Given the description of an element on the screen output the (x, y) to click on. 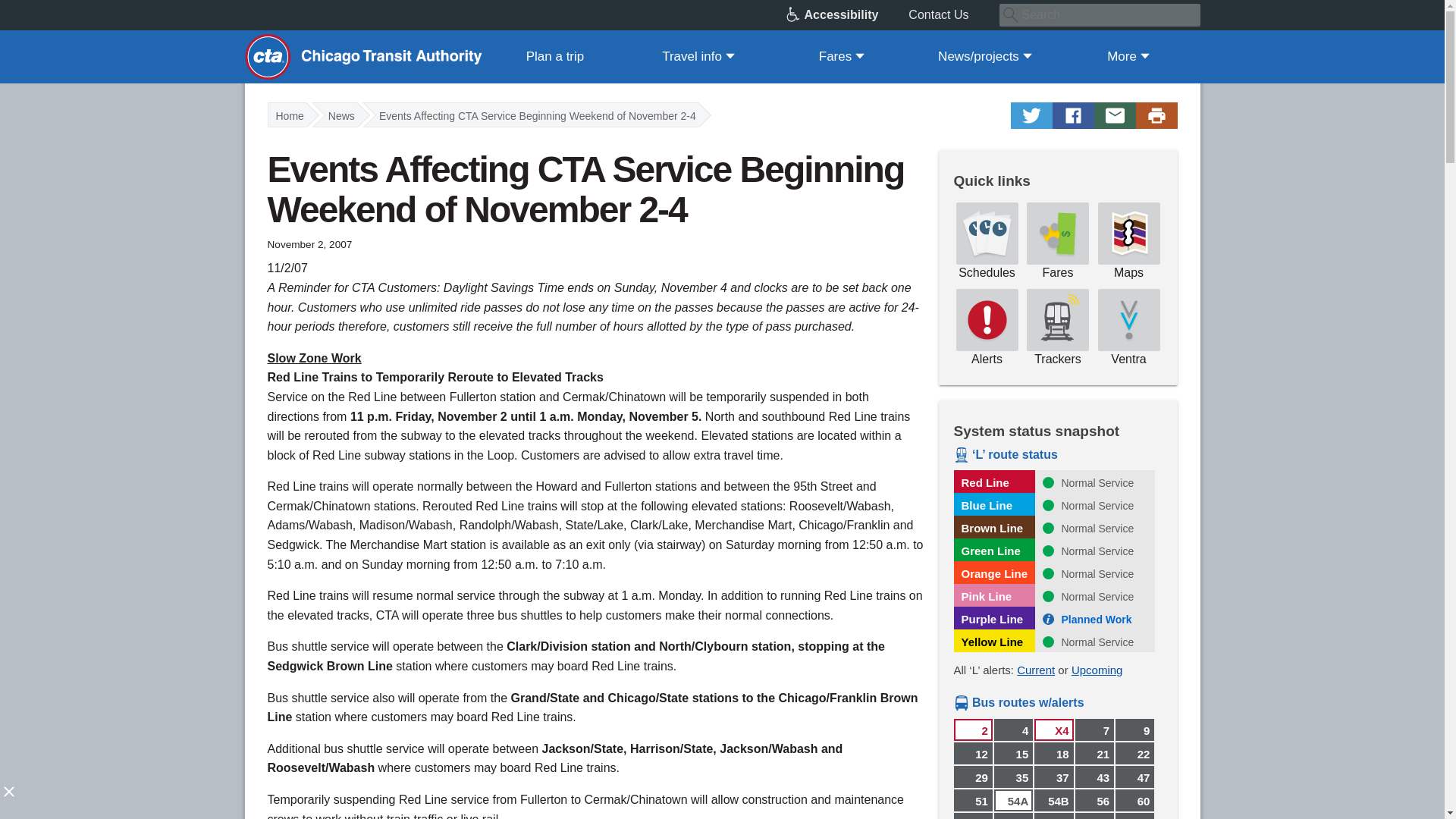
Plan a trip (555, 56)
Accessibility (847, 15)
Travel info (698, 56)
Contact Us (953, 15)
